Given the description of an element on the screen output the (x, y) to click on. 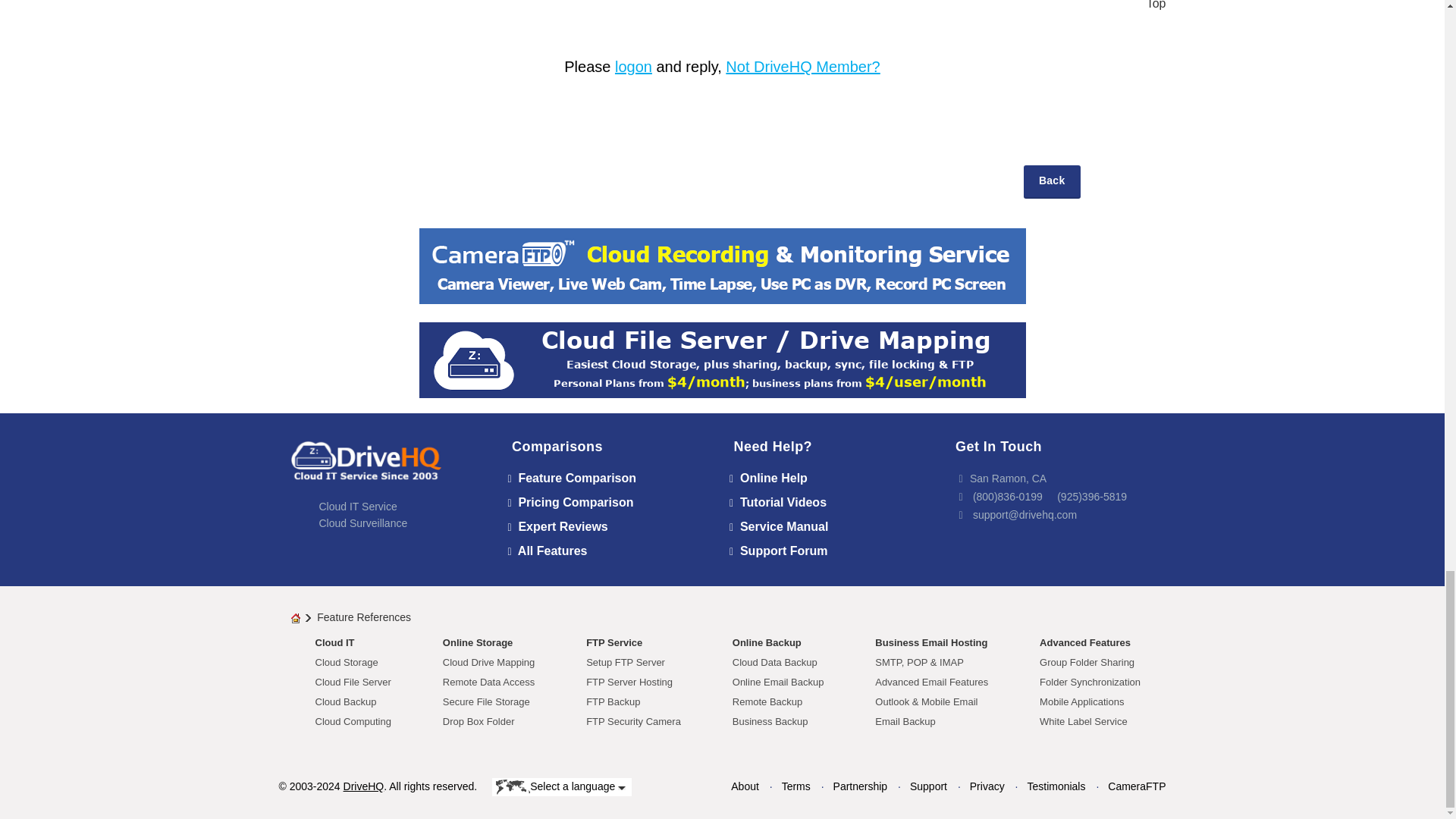
Back (1051, 182)
